Given the description of an element on the screen output the (x, y) to click on. 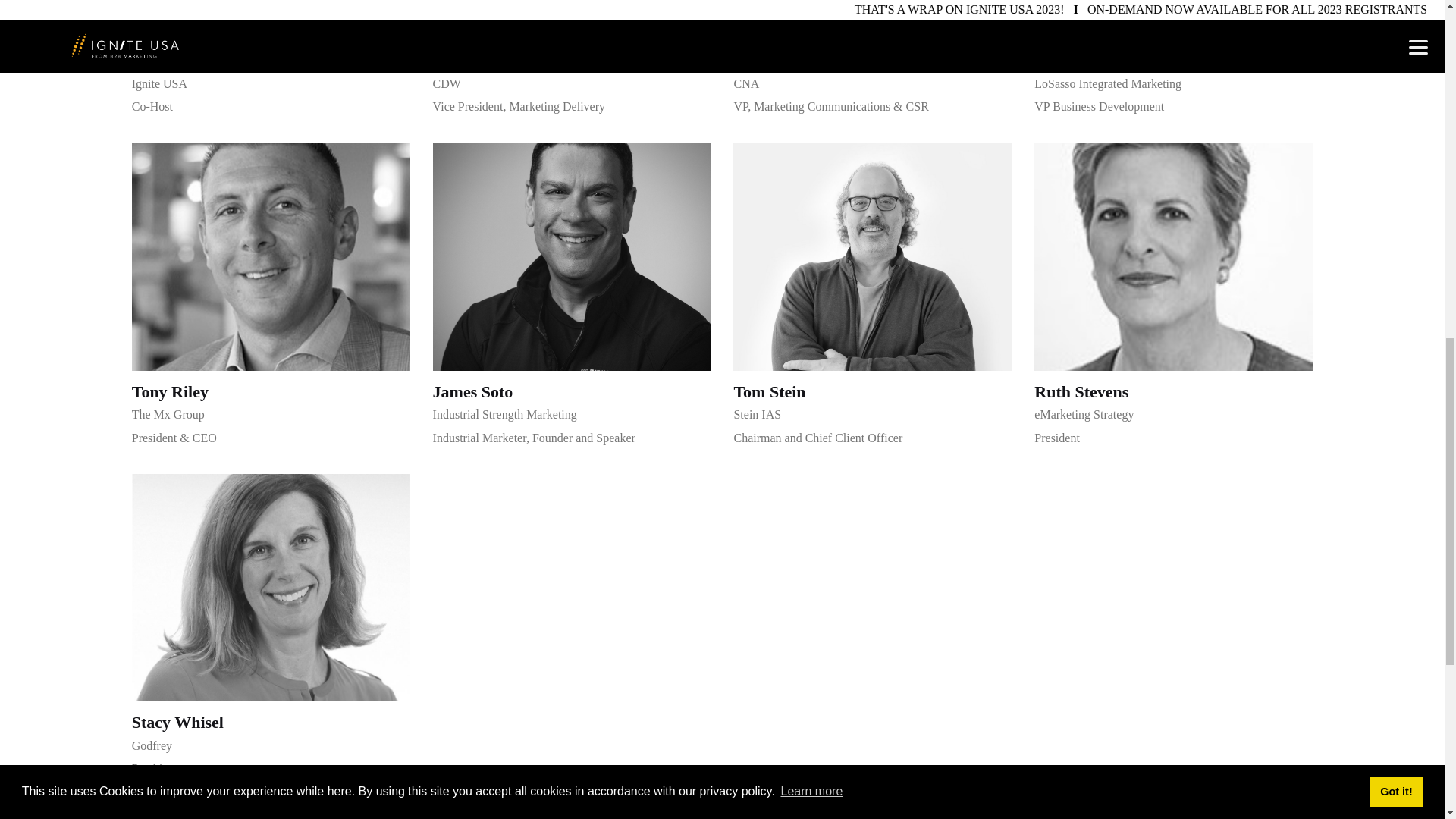
Lauren McCadney (499, 61)
Speaker Details (571, 19)
Speaker Details (1173, 19)
Speaker Details (180, 61)
Speaker Details (571, 257)
Speaker Details (780, 61)
Cara McCall (780, 61)
Speaker Details (271, 19)
Speaker Details (872, 19)
James Soto (472, 393)
Julia Parisot (1078, 61)
Stacy Whisel (178, 723)
Tony Riley (170, 393)
Speaker Details (271, 257)
Katie Martell (180, 61)
